Given the description of an element on the screen output the (x, y) to click on. 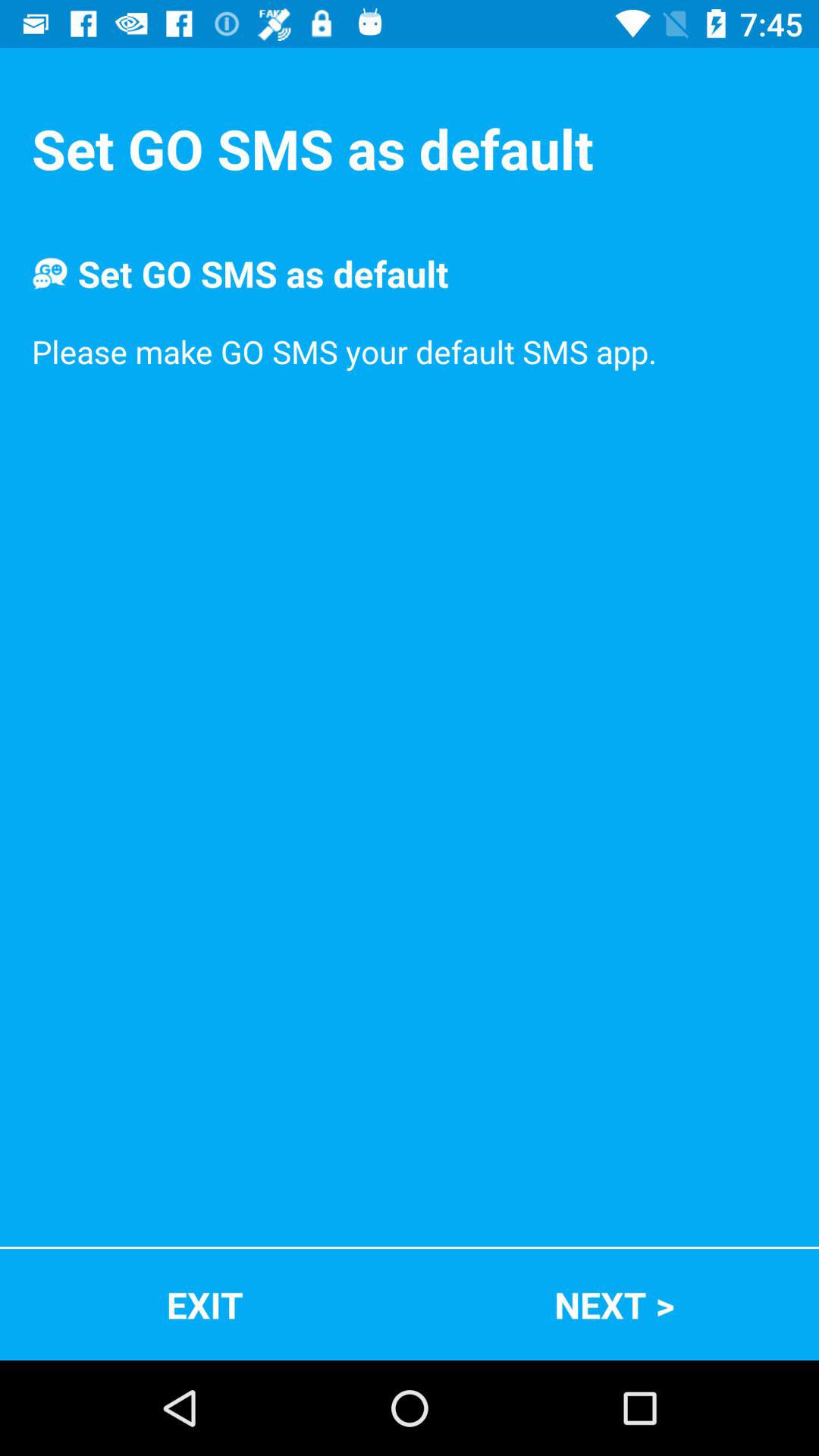
open the item to the right of exit icon (614, 1304)
